Given the description of an element on the screen output the (x, y) to click on. 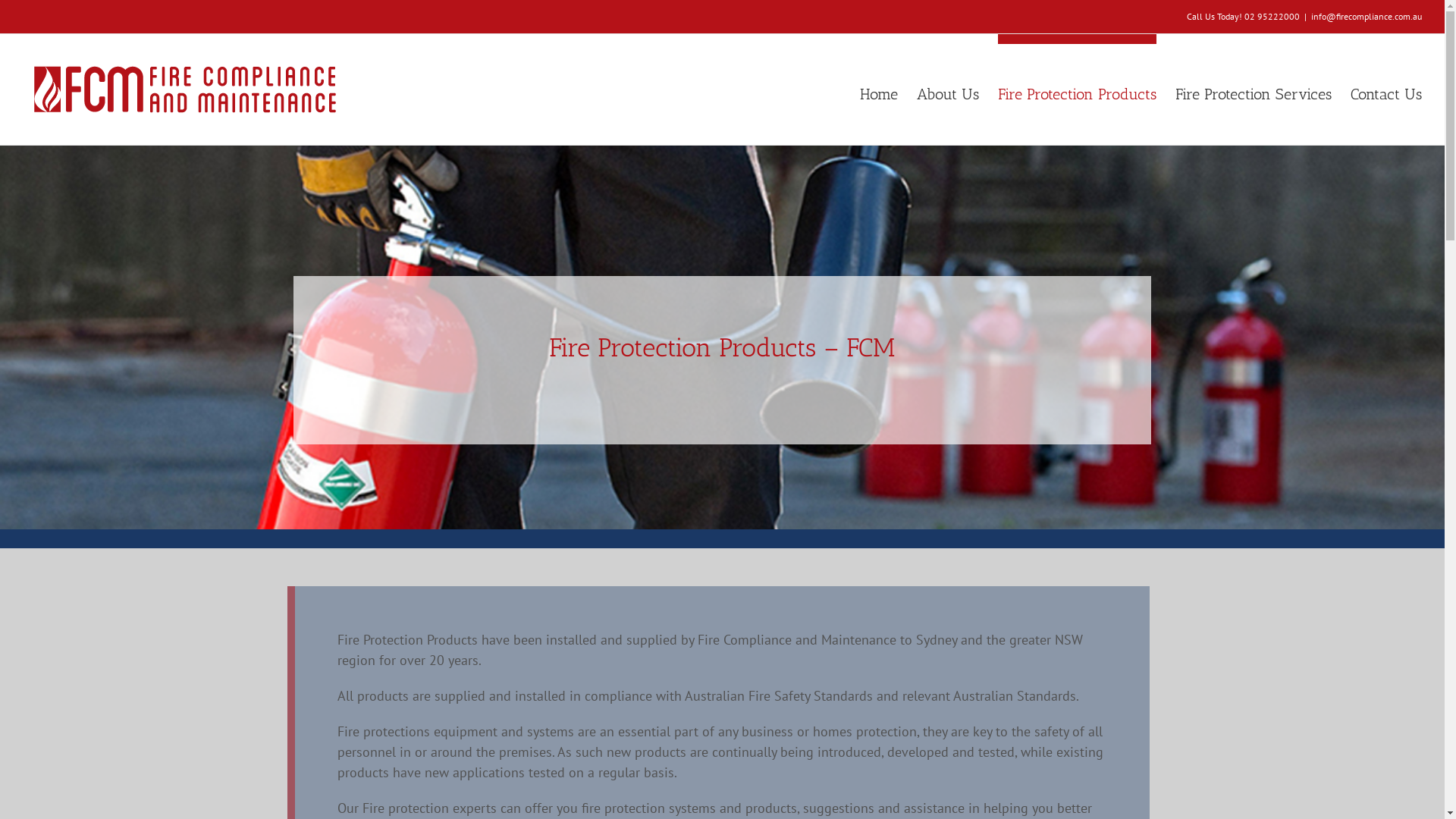
About Us Element type: text (947, 89)
Fire Protection Services Element type: text (1253, 89)
Fire Protection Products Element type: text (1076, 89)
Home Element type: text (878, 89)
Contact Us Element type: text (1385, 89)
info@firecompliance.com.au Element type: text (1366, 15)
02 95222000 Element type: text (1271, 15)
